Given the description of an element on the screen output the (x, y) to click on. 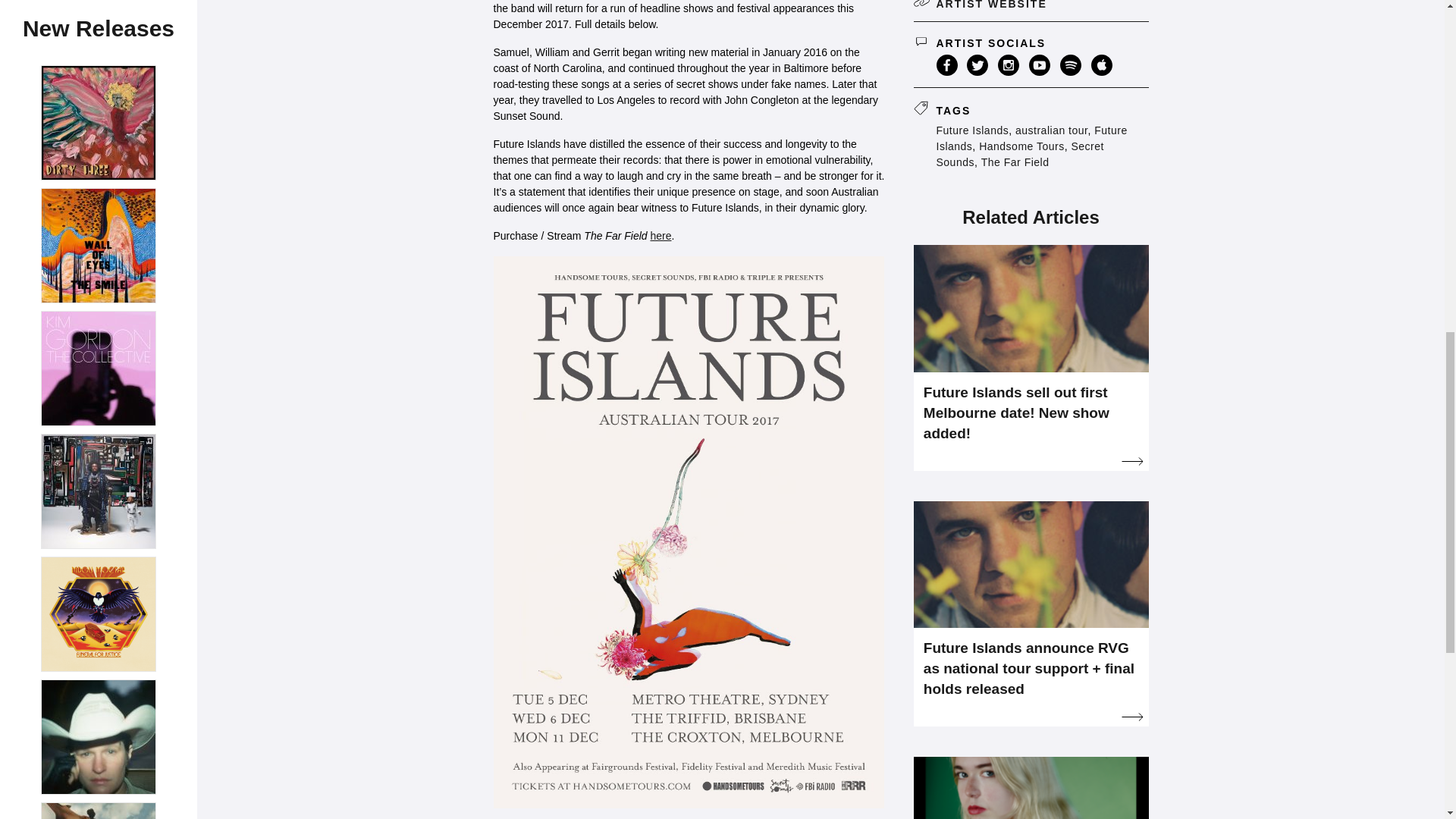
INSTAGRAM (1008, 65)
ARTIST WEBSITE (1030, 10)
SPOTIFY (1070, 65)
FACEBOOK (946, 65)
ITUNES (1101, 65)
australian tour (1050, 130)
Handsome Tours (1021, 146)
TWITTER (977, 65)
Future Islands (1031, 138)
Sampha - LAHAI (98, 48)
